Given the description of an element on the screen output the (x, y) to click on. 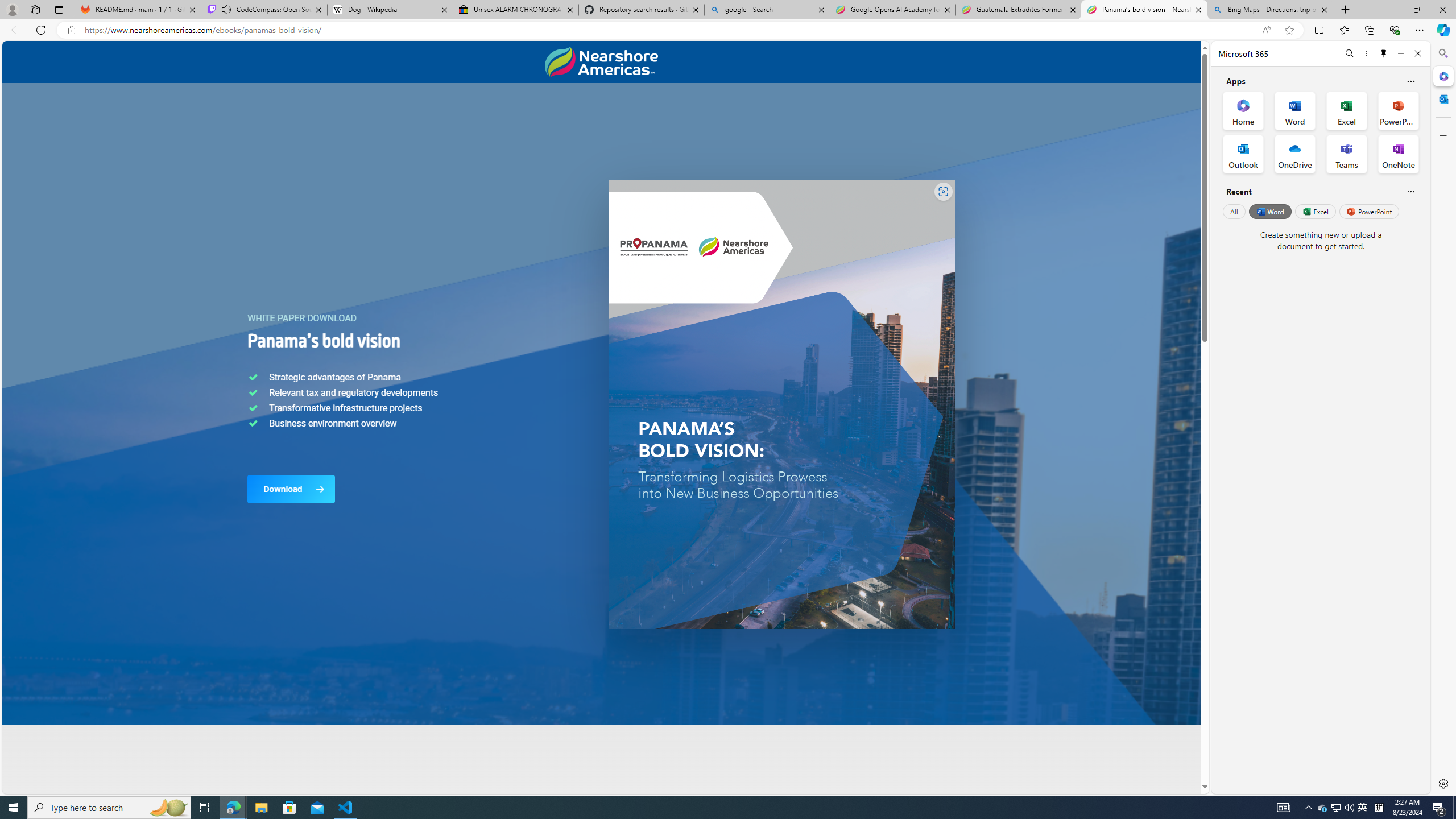
Outlook Office App (1243, 154)
Class: slide_out_area_close (1257, 417)
google - Search (766, 9)
Word (1269, 210)
Word Office App (1295, 110)
PowerPoint (1369, 210)
Excel Office App (1346, 110)
PowerPoint Office App (1398, 110)
Outlook (1442, 98)
